Given the description of an element on the screen output the (x, y) to click on. 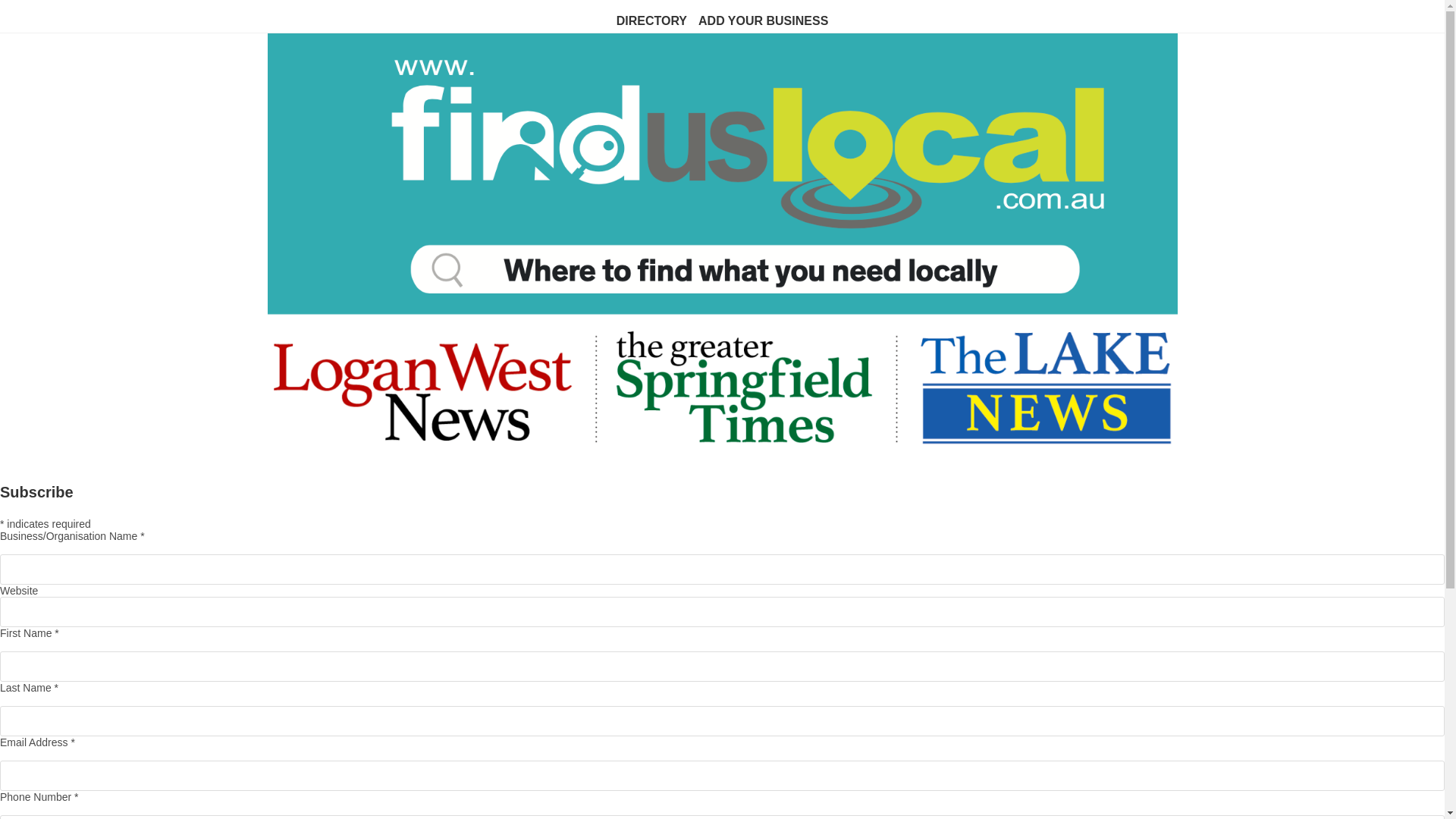
DIRECTORY Element type: text (651, 21)
ADD YOUR BUSINESS Element type: text (763, 21)
